Given the description of an element on the screen output the (x, y) to click on. 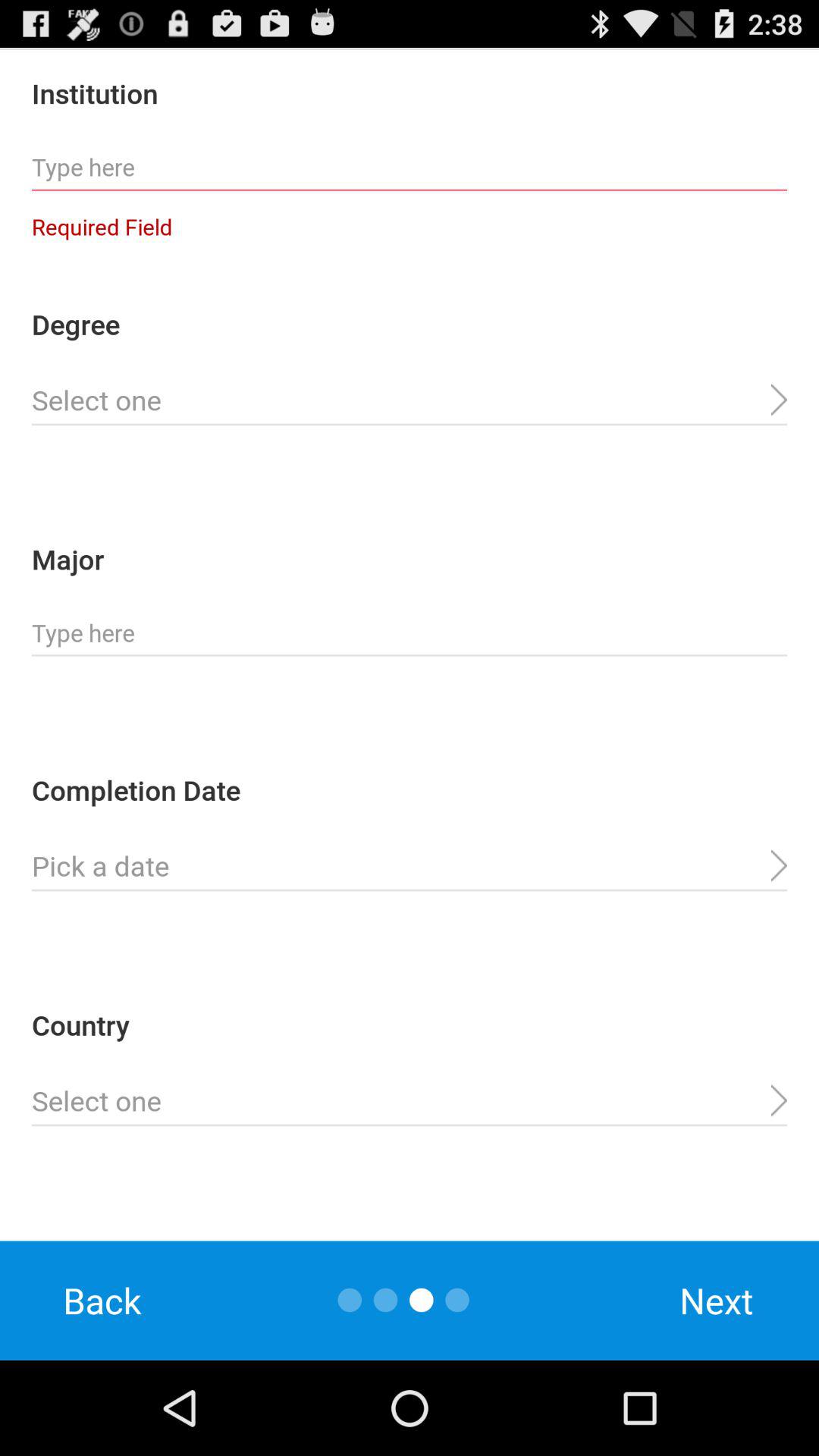
select completion date (409, 866)
